Given the description of an element on the screen output the (x, y) to click on. 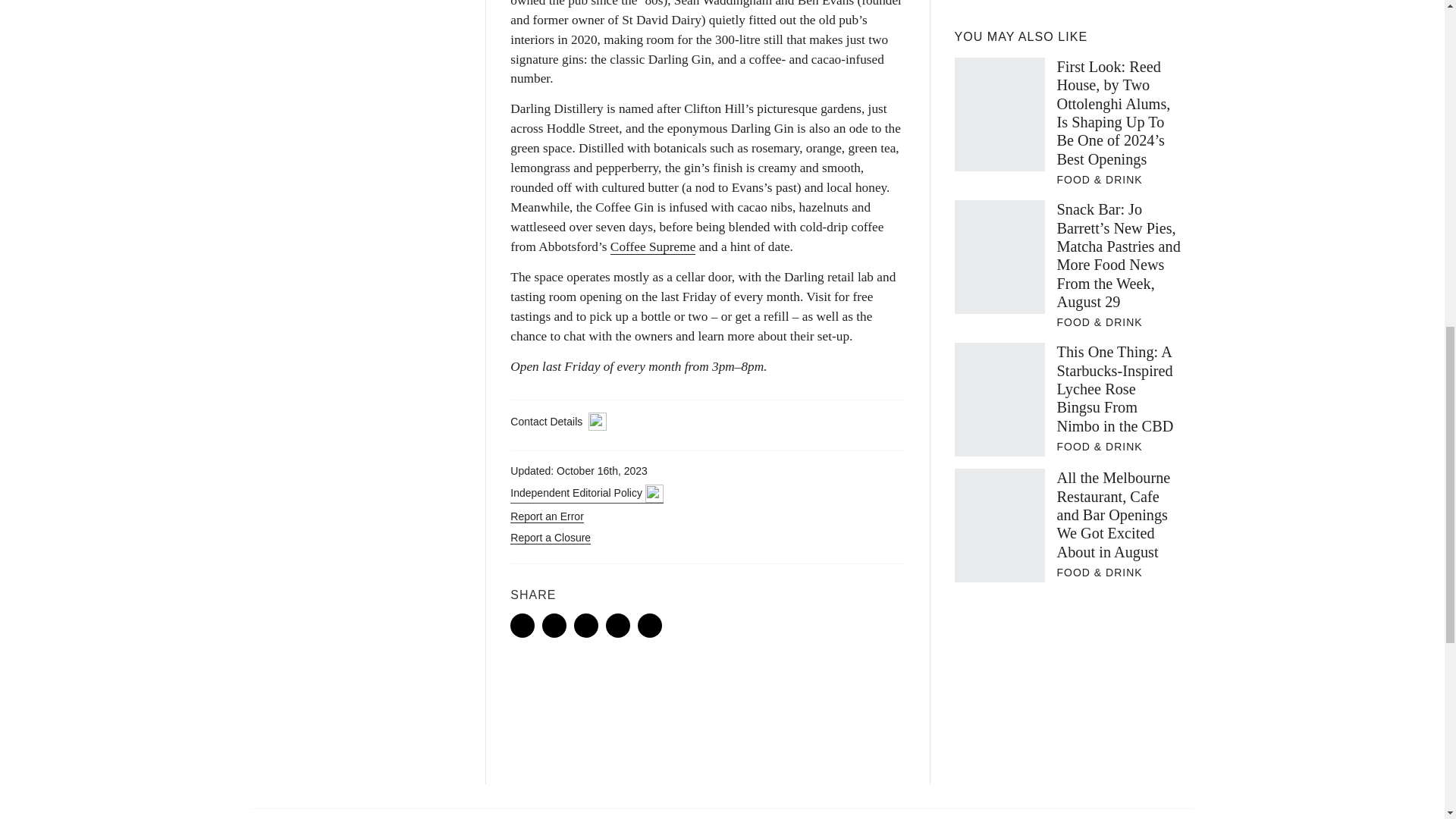
Report an Error (547, 516)
Report a Closure (551, 537)
Independent Editorial Policy (586, 493)
Coffee Supreme (652, 246)
